Given the description of an element on the screen output the (x, y) to click on. 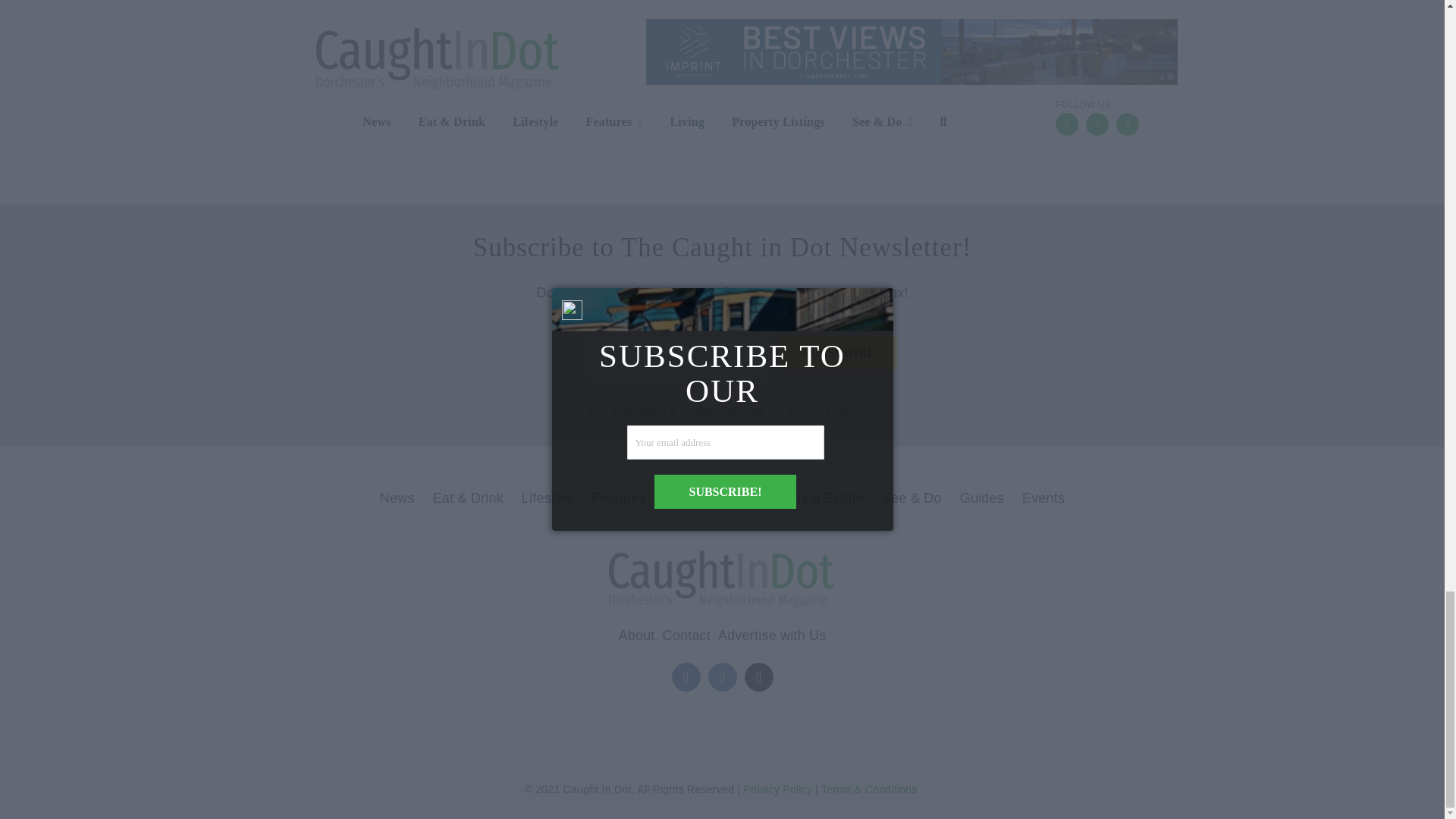
Subscribe (838, 352)
